Given the description of an element on the screen output the (x, y) to click on. 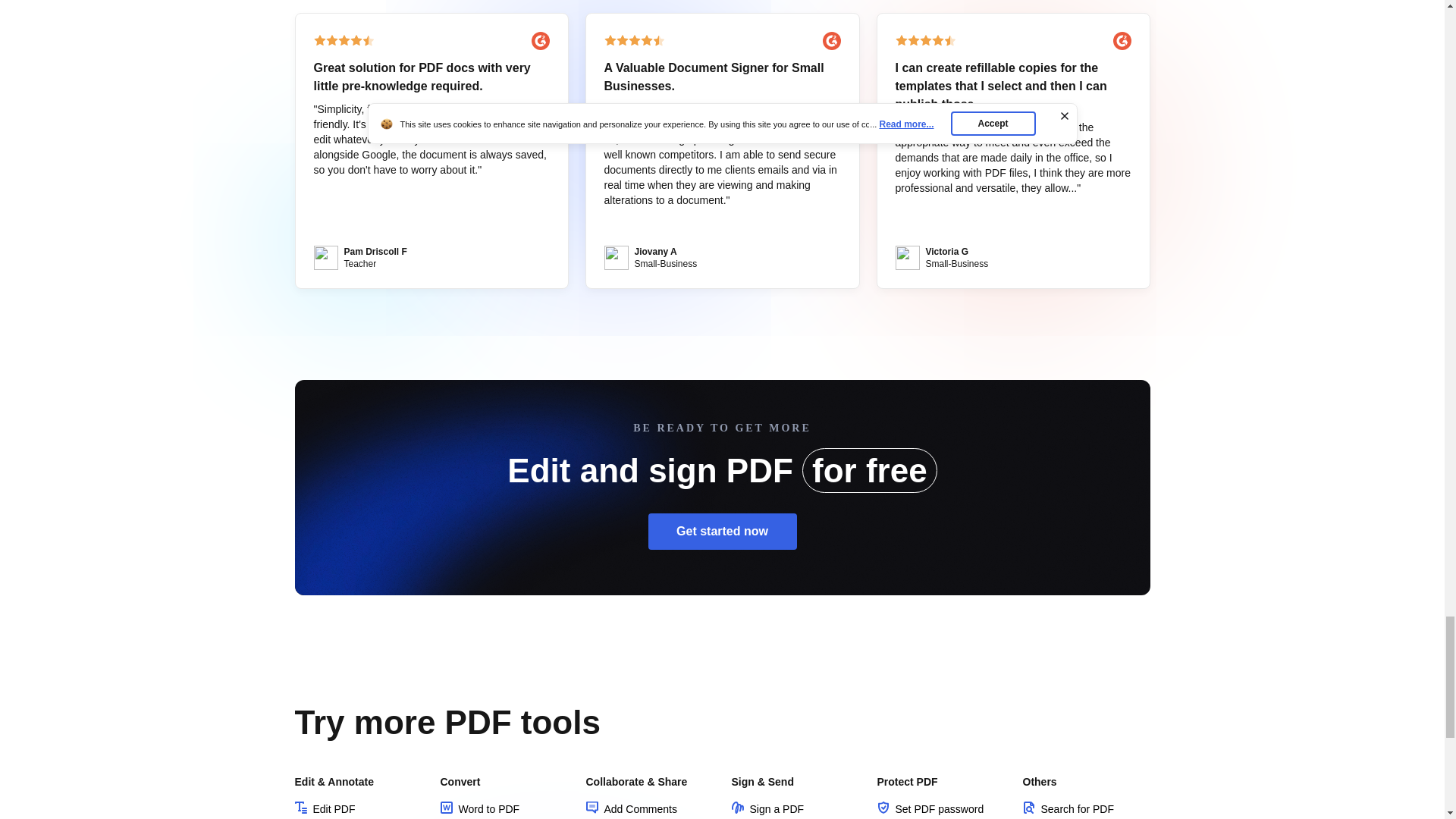
Add Comments (631, 808)
Edit PDF (324, 808)
Get started now (721, 531)
Word to PDF (479, 808)
